Given the description of an element on the screen output the (x, y) to click on. 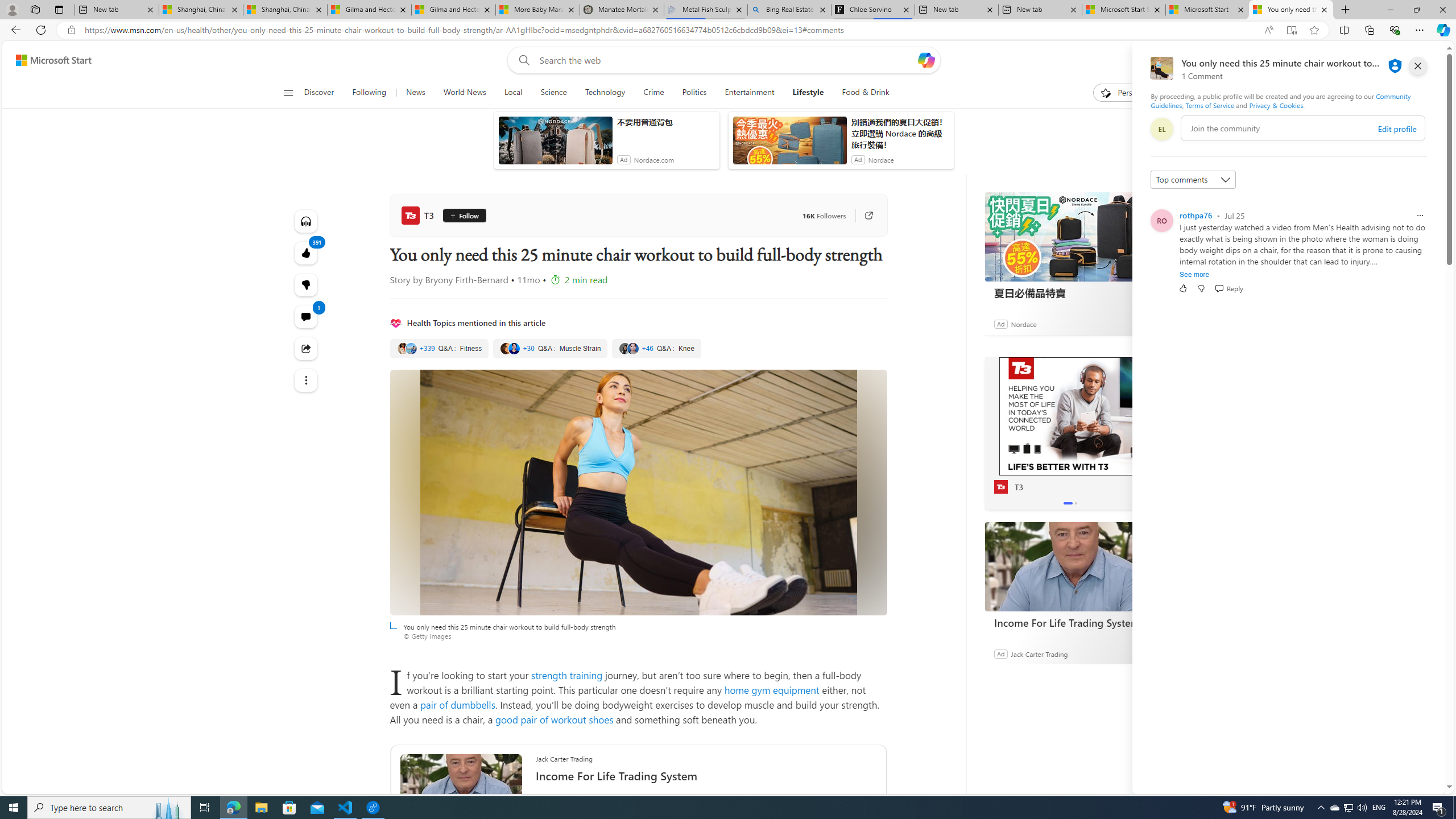
Food & Drink (860, 92)
next (1150, 433)
Crime (653, 92)
Gilma and Hector both pose tropical trouble for Hawaii (453, 9)
home gym equipment (771, 689)
Jack Carter Trading Income For Life Trading System (705, 773)
Chloe Sorvino (873, 9)
Skip to content (49, 59)
Class: button-glyph (287, 92)
Class: quote-thumbnail (632, 348)
